Given the description of an element on the screen output the (x, y) to click on. 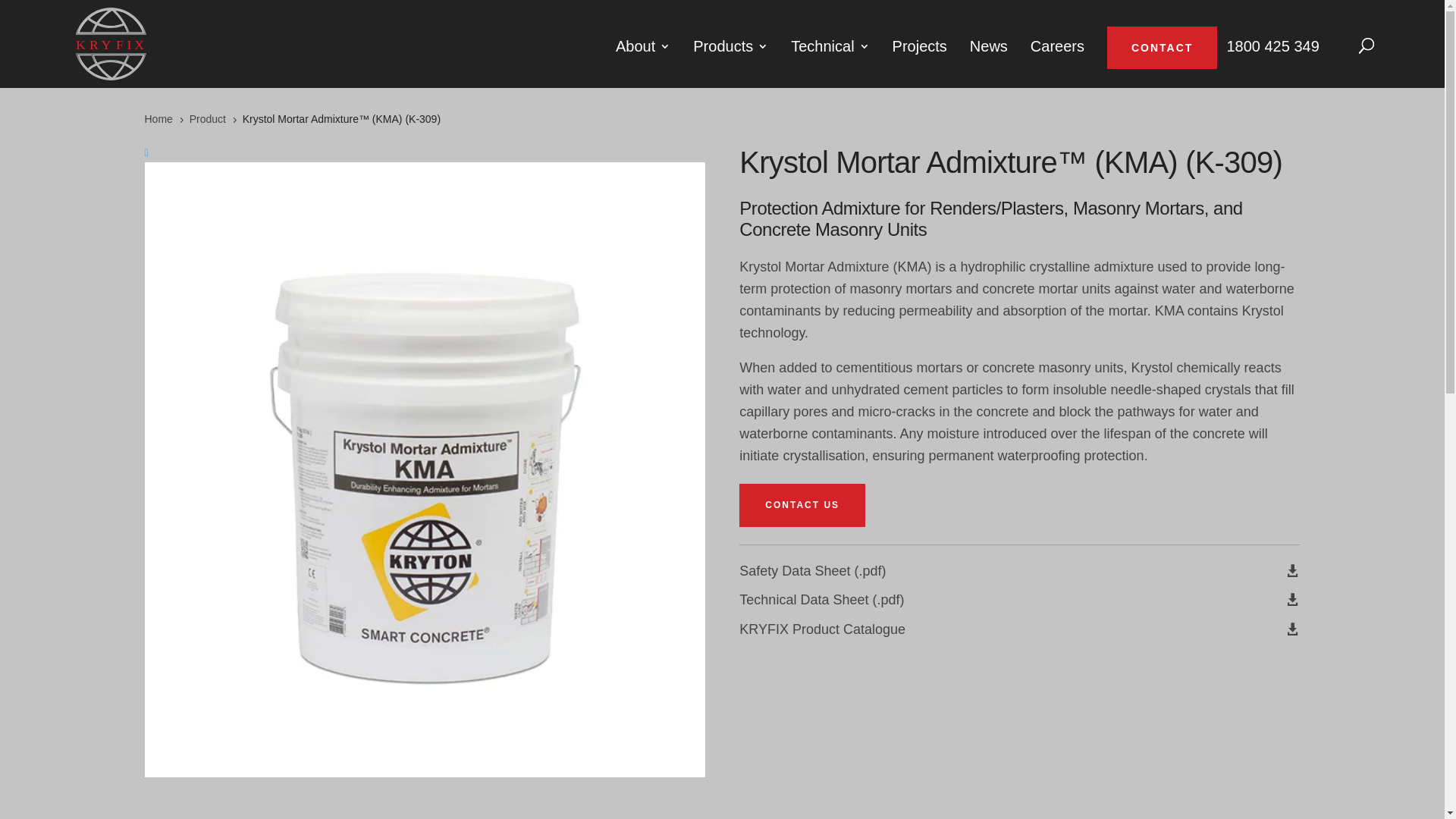
1800 425 349 Element type: text (1272, 59)
Home Element type: text (158, 118)
Projects Element type: text (919, 59)
CONTACT US Element type: text (802, 504)
Careers Element type: text (1057, 59)
Technical Element type: text (829, 59)
News Element type: text (988, 59)
Products Element type: text (730, 59)
CONTACT Element type: text (1162, 47)
About Element type: text (642, 59)
Product Element type: text (207, 118)
